Given the description of an element on the screen output the (x, y) to click on. 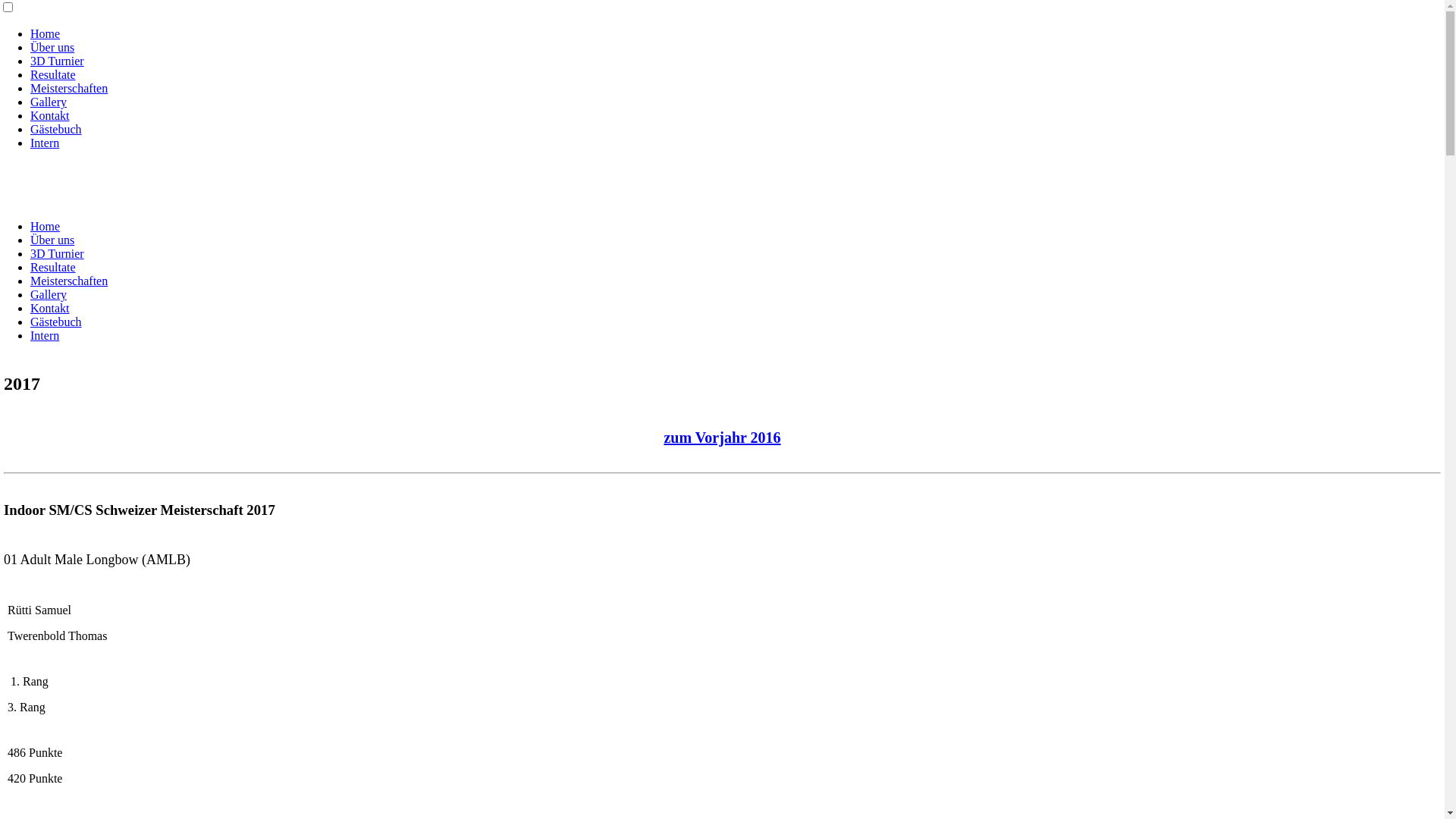
Gallery Element type: text (48, 101)
Resultate Element type: text (52, 266)
Kontakt Element type: text (49, 115)
3D Turnier Element type: text (57, 60)
Intern Element type: text (44, 142)
Home Element type: text (44, 33)
Home Element type: text (44, 225)
3D Turnier Element type: text (57, 253)
Resultate Element type: text (52, 74)
Meisterschaften Element type: text (68, 280)
Intern Element type: text (44, 335)
Kontakt Element type: text (49, 307)
zum Vorjahr 2016 Element type: text (721, 437)
Gallery Element type: text (48, 294)
Meisterschaften Element type: text (68, 87)
